Given the description of an element on the screen output the (x, y) to click on. 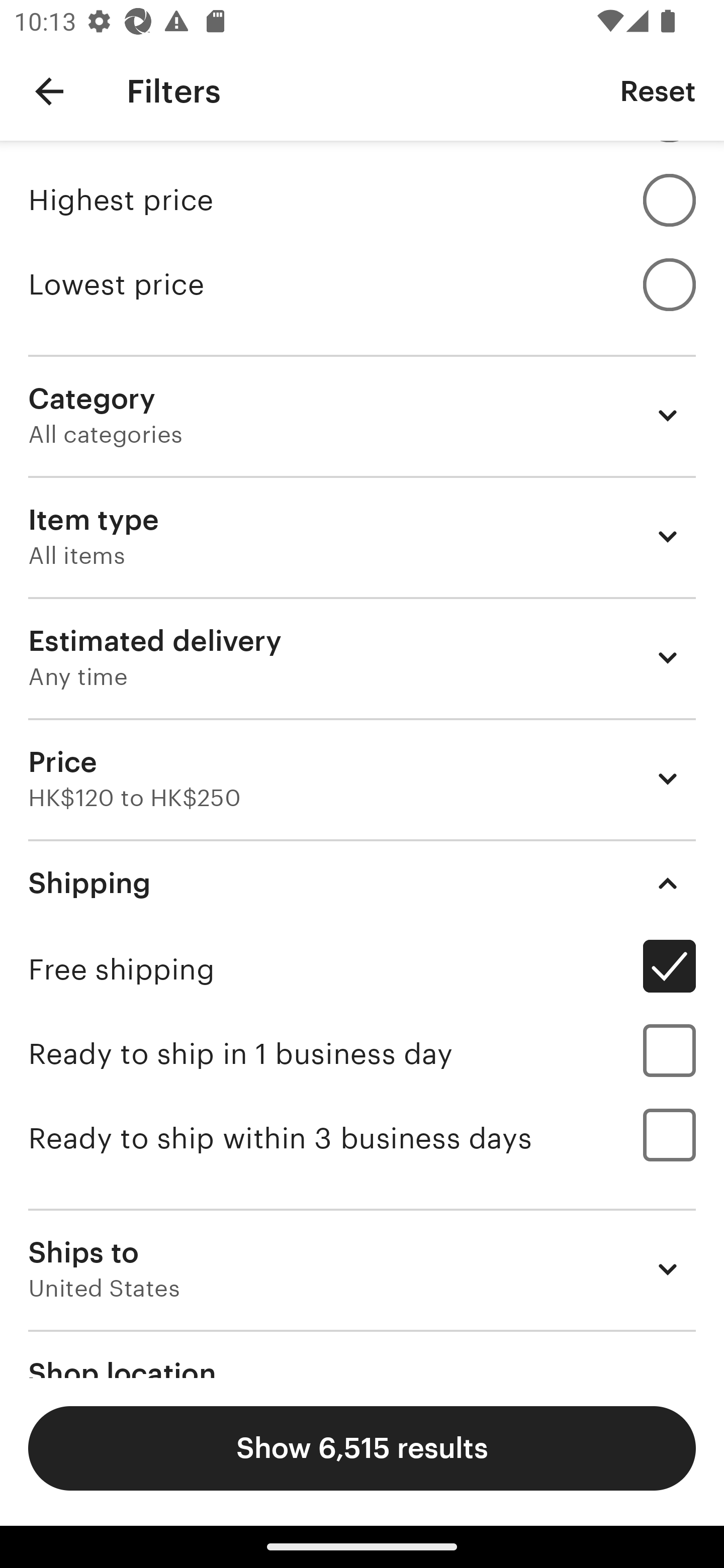
Navigate up (49, 91)
Reset (657, 90)
Highest price (362, 199)
Lowest price (362, 283)
Category All categories (362, 415)
Item type All items (362, 536)
Estimated delivery Any time (362, 657)
Price HK$120 to HK$250 (362, 778)
Shipping (362, 882)
Free shipping (362, 968)
Ready to ship in 1 business day (362, 1053)
Ready to ship within 3 business days (362, 1138)
Ships to United States (362, 1268)
Show 6,515 results Show 17,673 results (361, 1448)
